Given the description of an element on the screen output the (x, y) to click on. 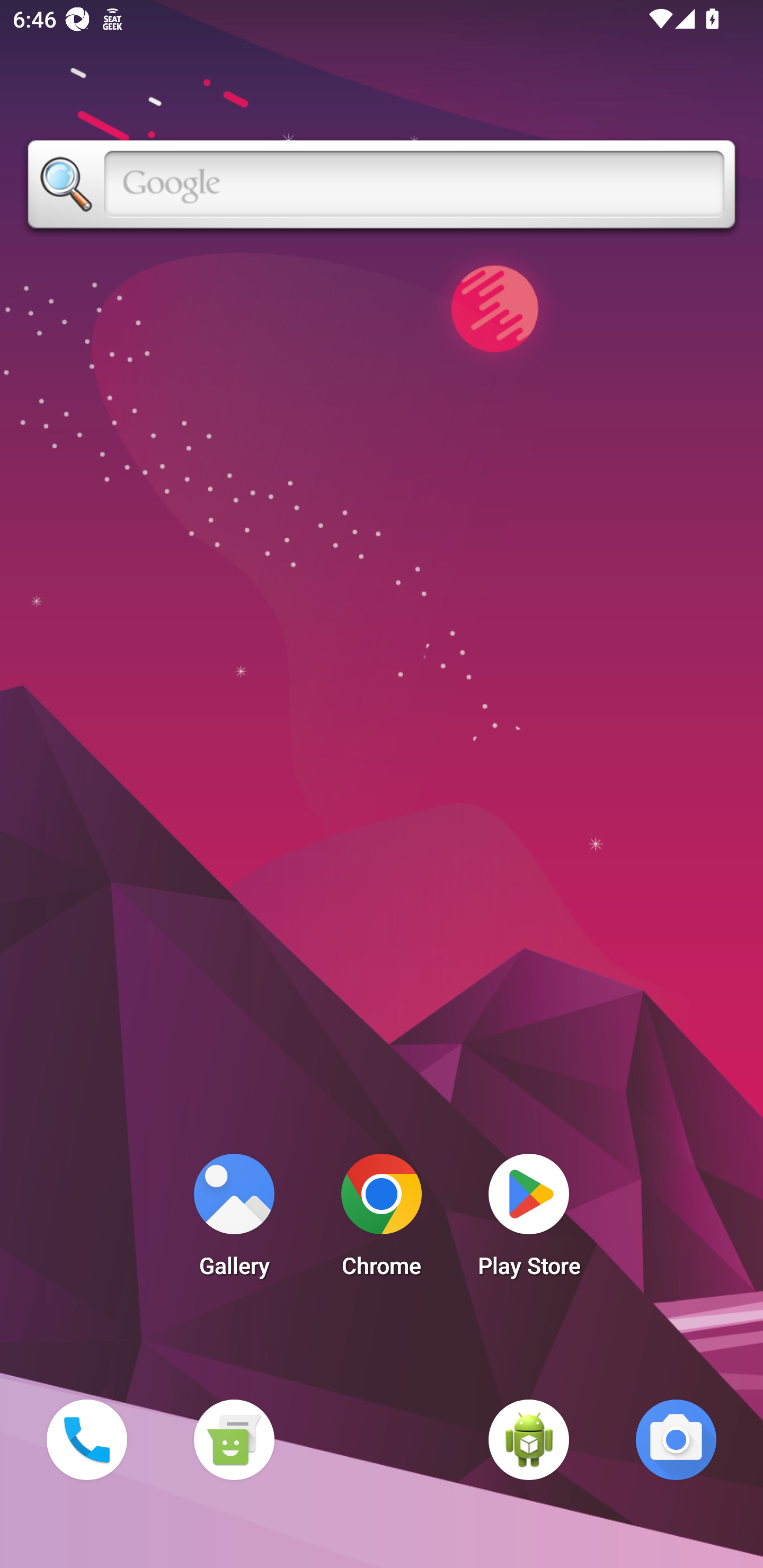
Gallery (233, 1220)
Chrome (381, 1220)
Play Store (528, 1220)
Phone (86, 1439)
Messaging (233, 1439)
WebView Browser Tester (528, 1439)
Camera (676, 1439)
